Given the description of an element on the screen output the (x, y) to click on. 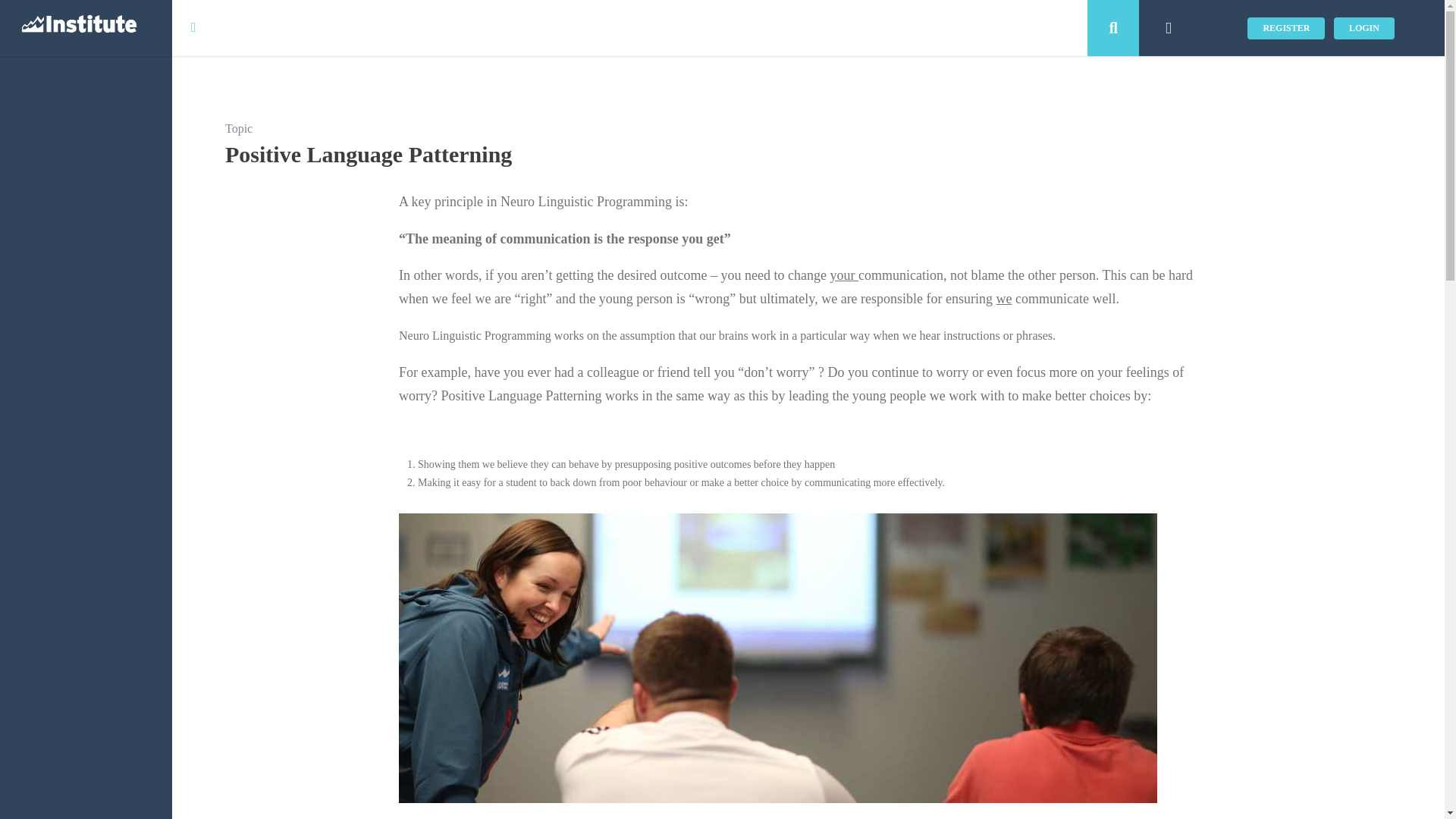
REGISTER (1285, 27)
Search (1112, 28)
LOGIN (1363, 27)
